Given the description of an element on the screen output the (x, y) to click on. 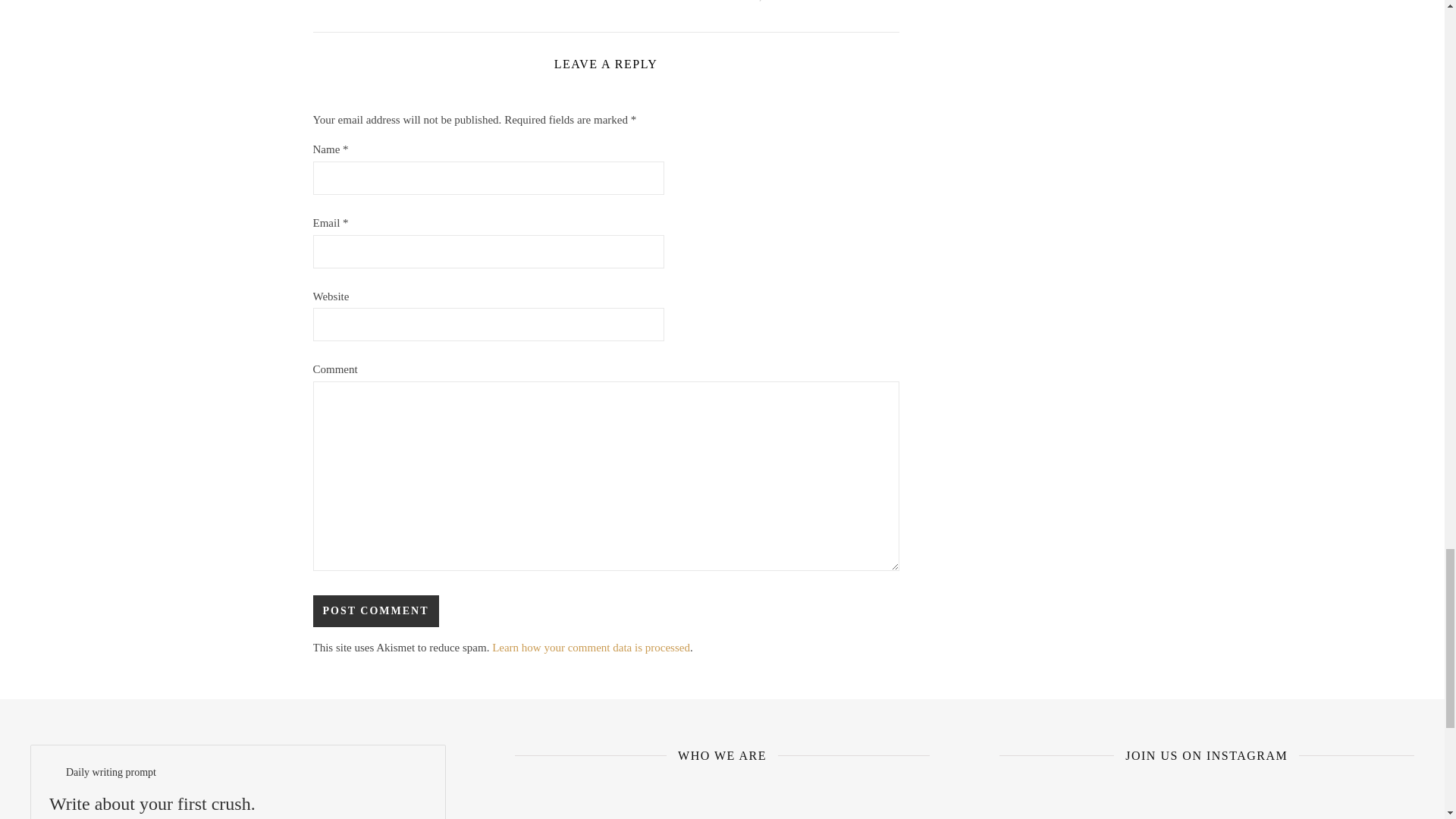
Post Comment (375, 611)
